Given the description of an element on the screen output the (x, y) to click on. 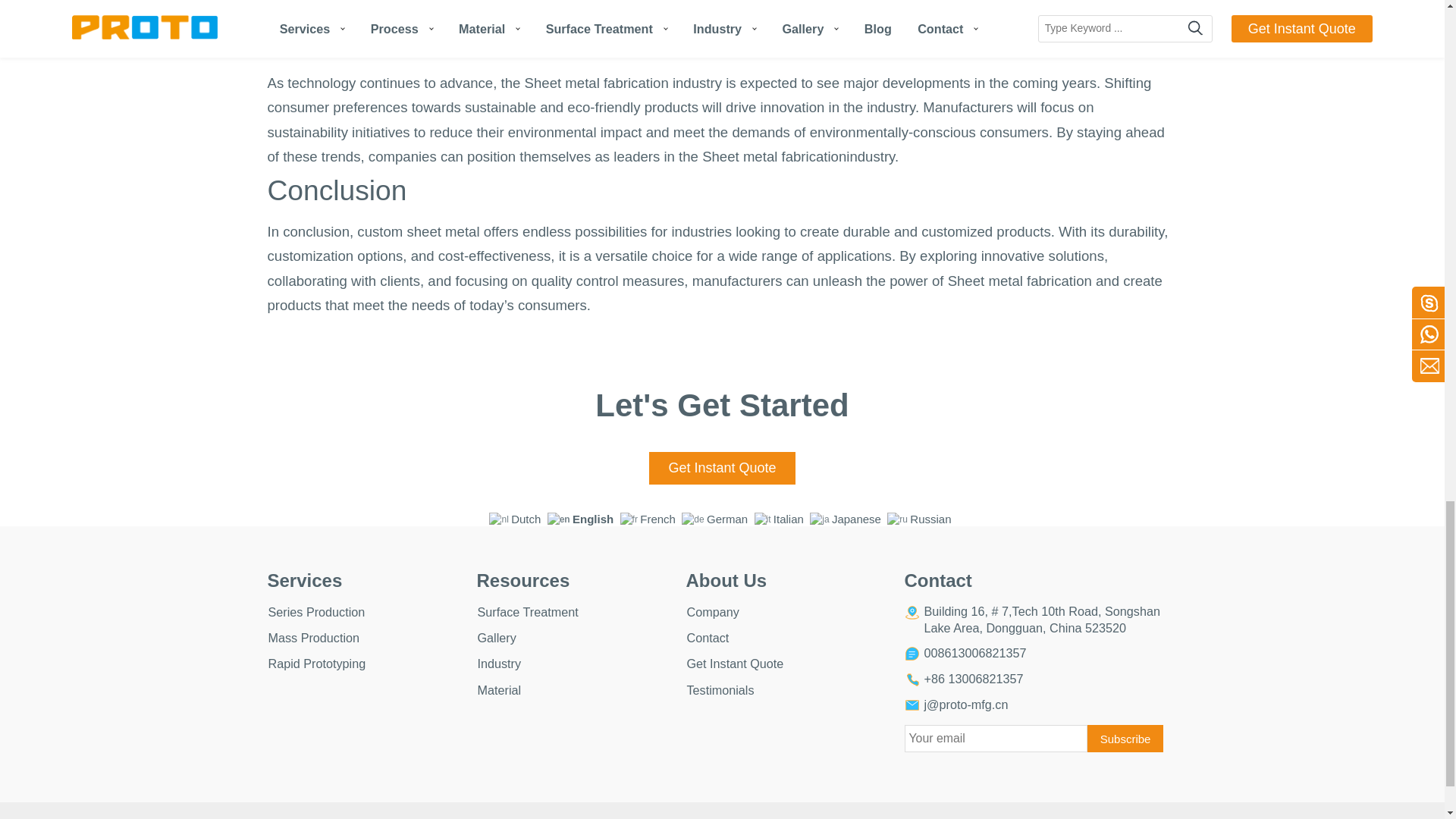
Rapid Prototyping (315, 663)
Mass Production (312, 637)
Subscribe (1125, 738)
Series Production (315, 612)
